Given the description of an element on the screen output the (x, y) to click on. 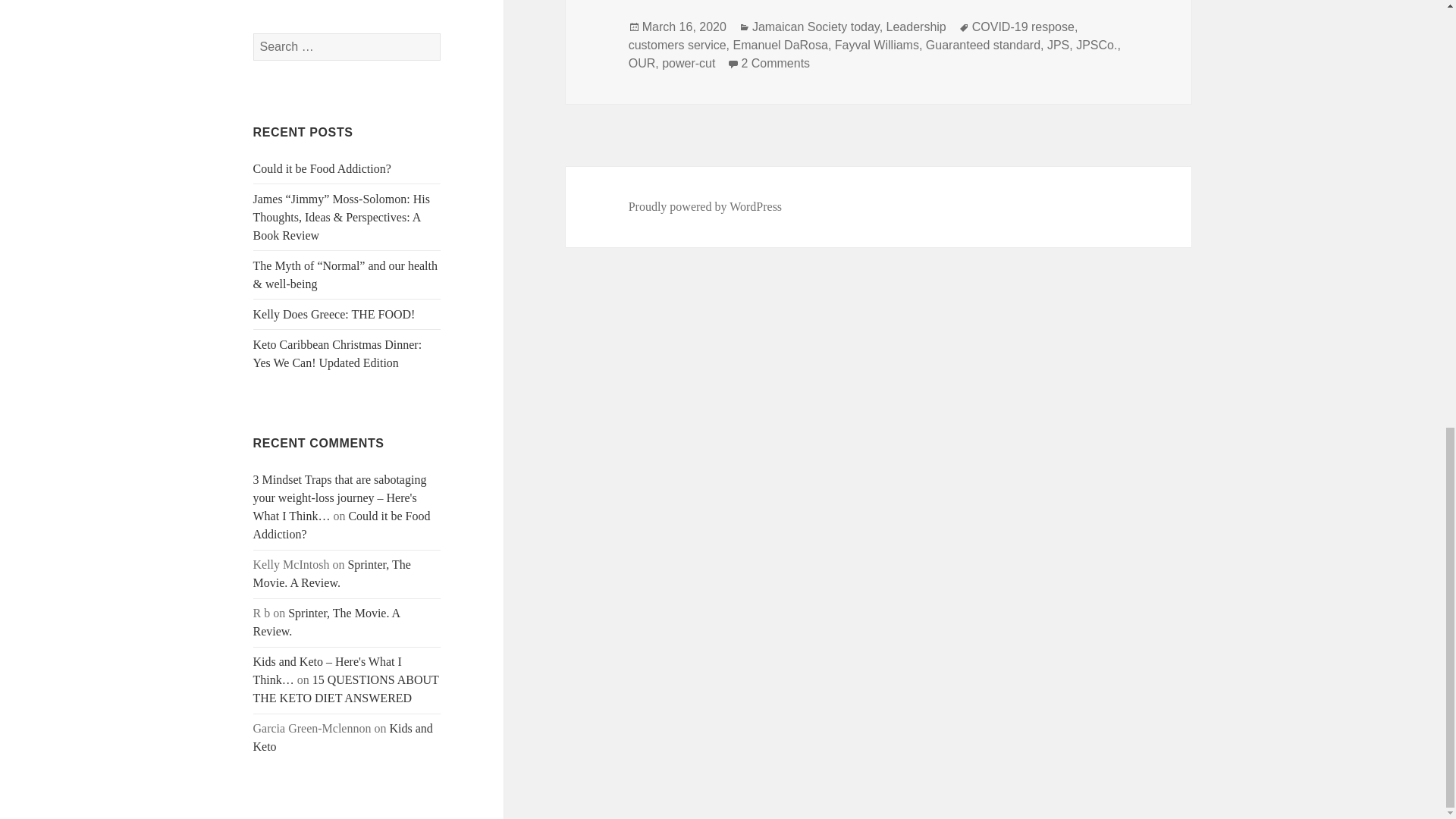
15 QUESTIONS ABOUT THE KETO DIET ANSWERED (346, 688)
Kelly Does Greece: THE FOOD! (333, 314)
March 16, 2020 (684, 27)
Sprinter, The Movie. A Review. (326, 622)
Could it be Food Addiction? (341, 524)
Kids and Keto (342, 736)
Jamaican Society today (815, 27)
